Given the description of an element on the screen output the (x, y) to click on. 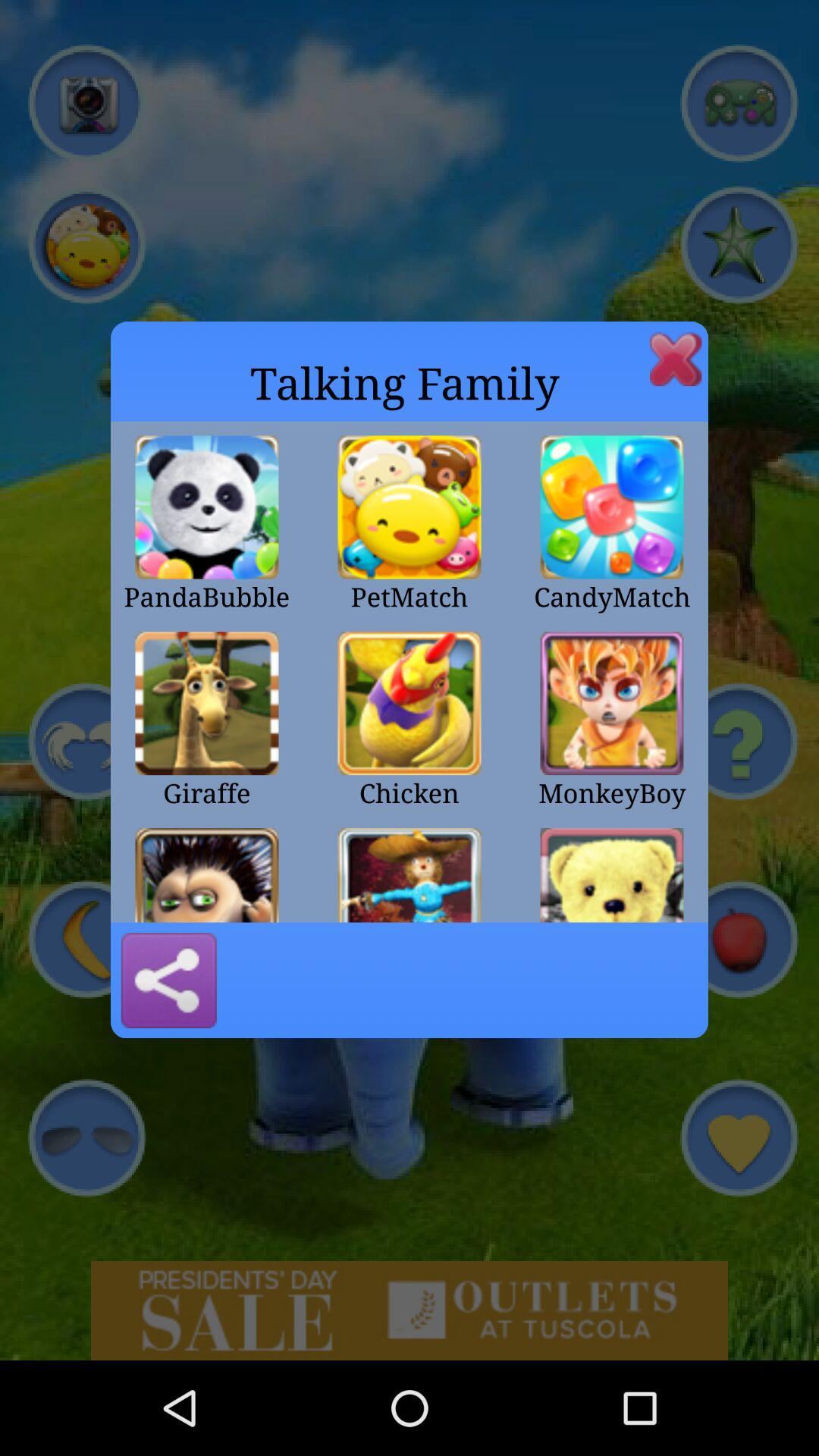
share the game information (168, 980)
